Given the description of an element on the screen output the (x, y) to click on. 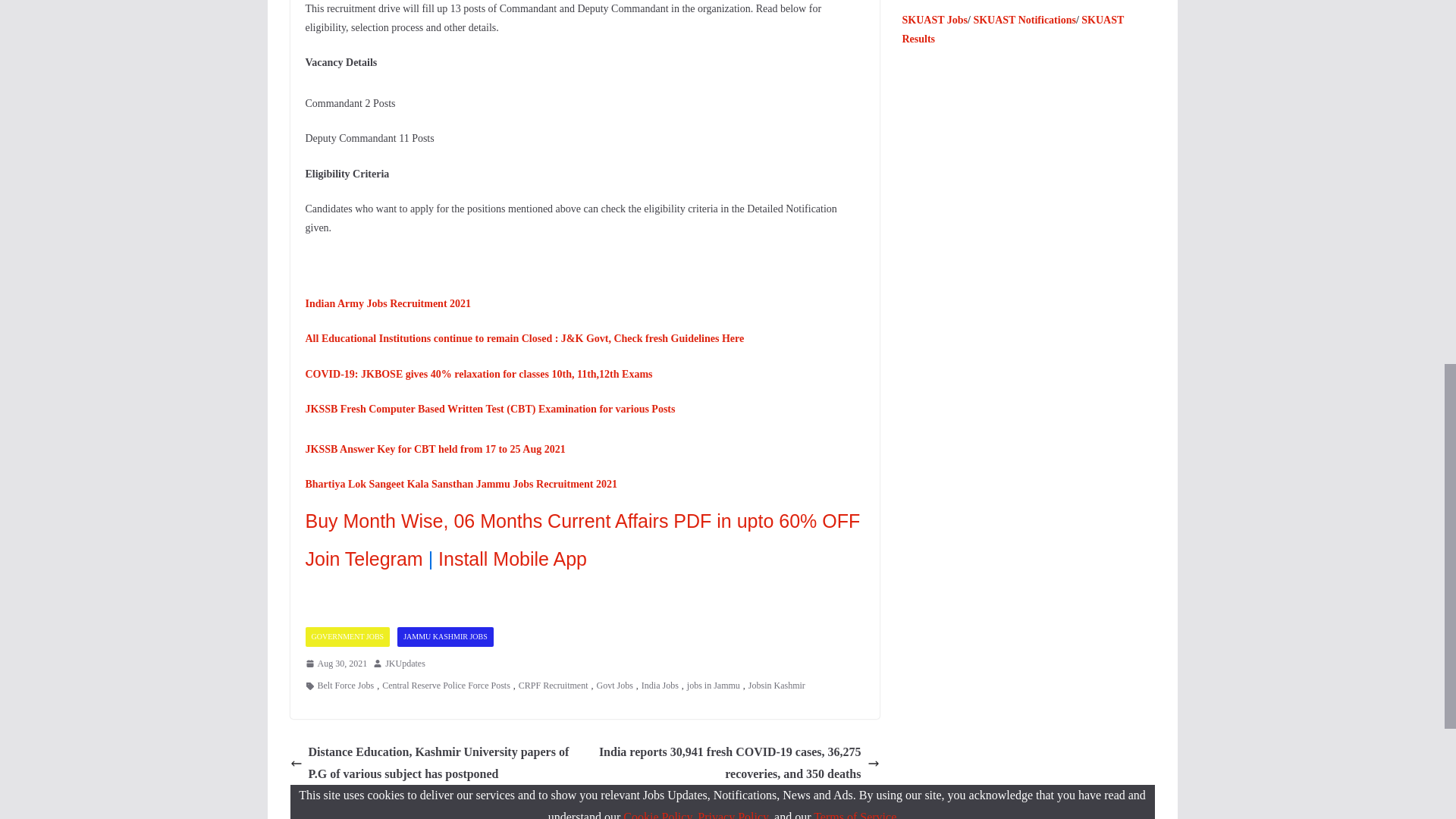
6:40 pm (335, 664)
Indian Army Jobs Recruitment 2021 (387, 303)
JKUpdates (405, 664)
JKSSB Answer Key for CBT held from 17 to 25 Aug 2021 (434, 449)
